Given the description of an element on the screen output the (x, y) to click on. 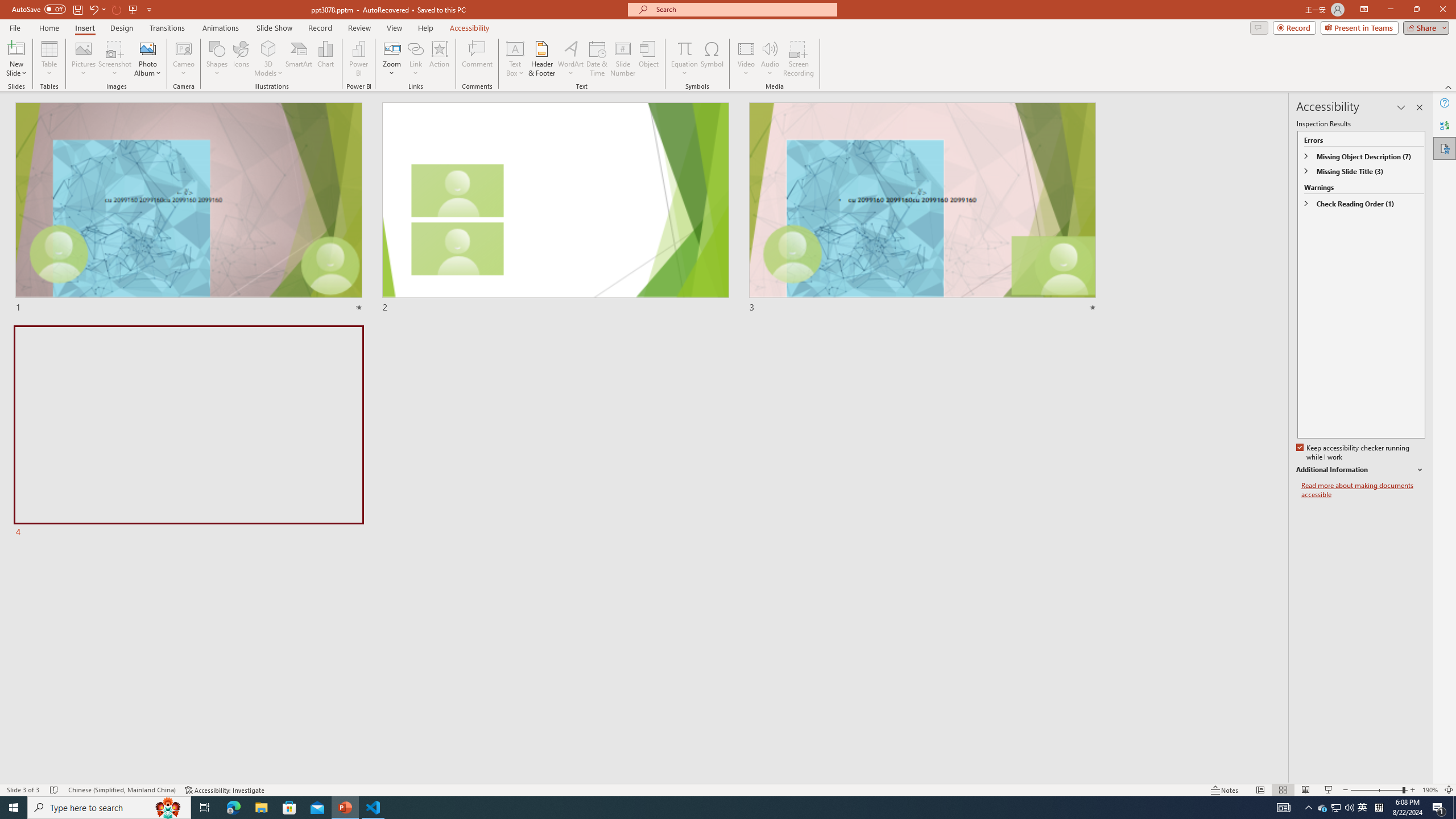
Object... (649, 58)
3D Models (268, 48)
Icons (240, 58)
WordArt (570, 58)
Table (49, 58)
